Given the description of an element on the screen output the (x, y) to click on. 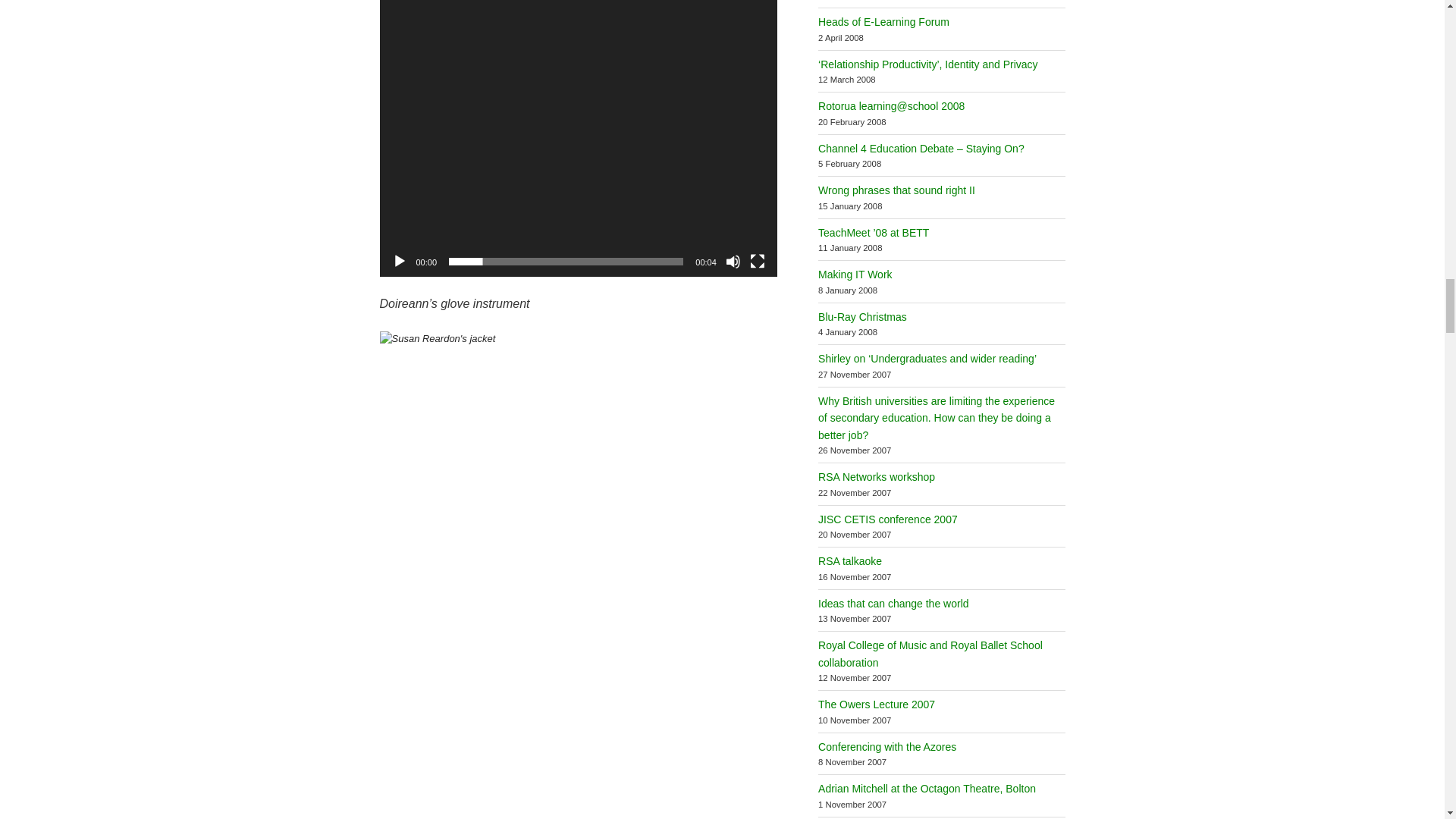
Mute (733, 261)
Fullscreen (757, 261)
Play (398, 261)
